Given the description of an element on the screen output the (x, y) to click on. 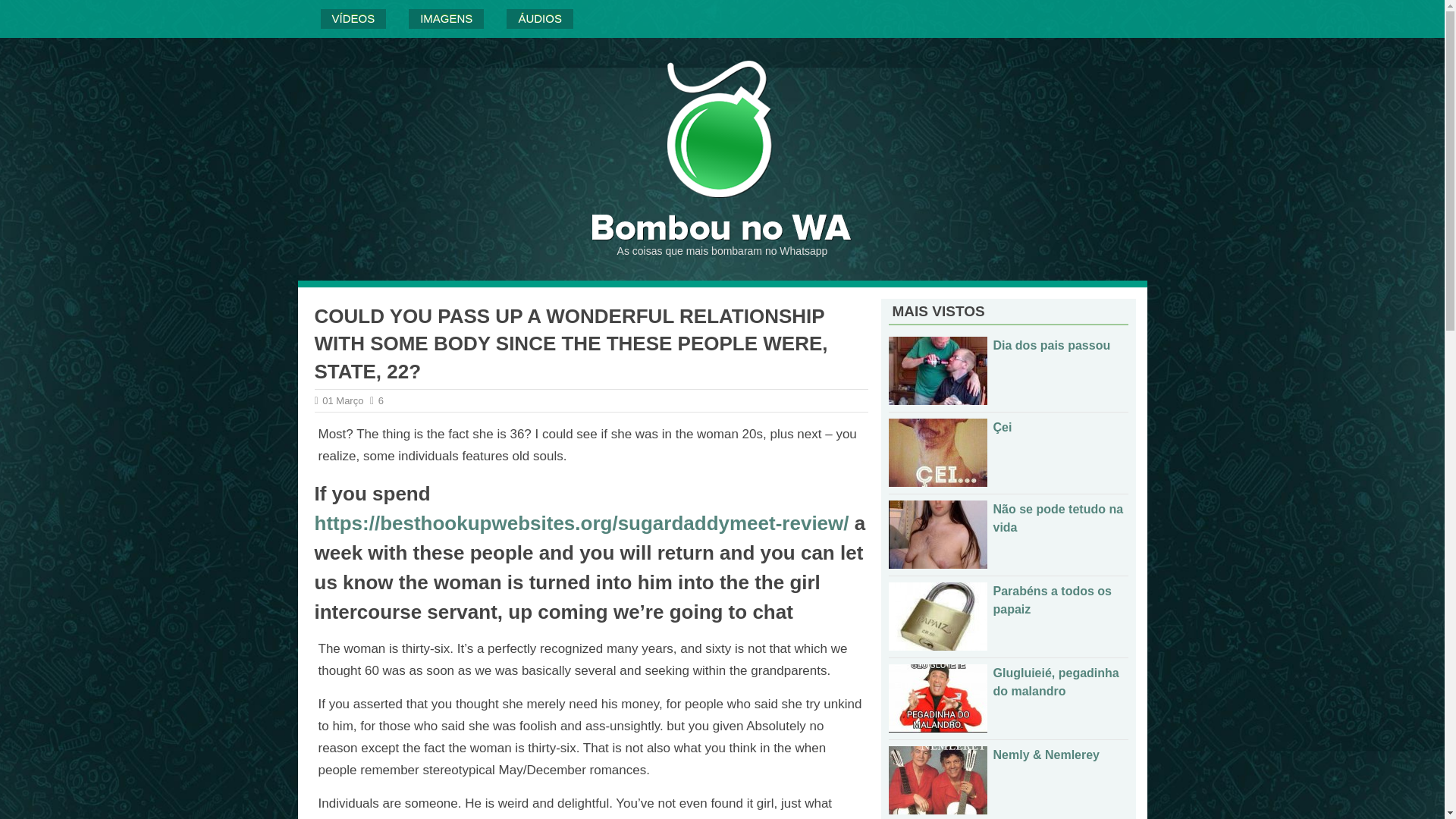
IMAGENS (446, 18)
Dia dos pais passou (1051, 345)
